Given the description of an element on the screen output the (x, y) to click on. 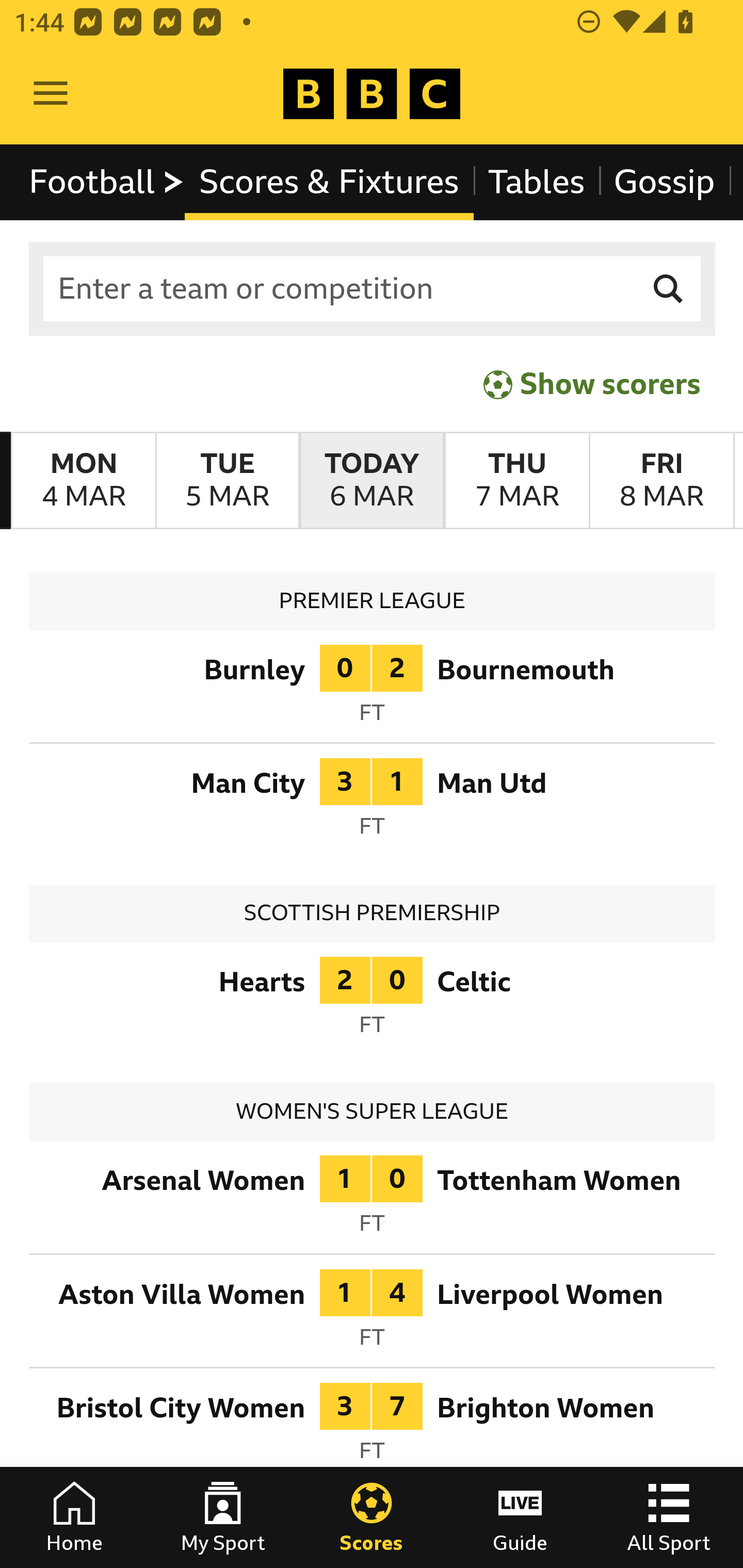
Open Menu (50, 93)
Football  (106, 181)
Scores & Fixtures (329, 181)
Tables (536, 181)
Gossip (664, 181)
Search (669, 289)
Show scorers (591, 383)
MondayMarch 4th Monday March 4th (83, 480)
TuesdayMarch 5th Tuesday March 5th (227, 480)
TodayMarch 6th Today March 6th (371, 480)
ThursdayMarch 7th Thursday March 7th (516, 480)
FridayMarch 8th Friday March 8th (661, 480)
68395538 Burnley 0 AFC Bournemouth 2 Full Time (372, 689)
68395495 Heart of Midlothian 2 Celtic 0 Full Time (372, 1002)
Home (74, 1517)
My Sport (222, 1517)
Guide (519, 1517)
All Sport (668, 1517)
